Given the description of an element on the screen output the (x, y) to click on. 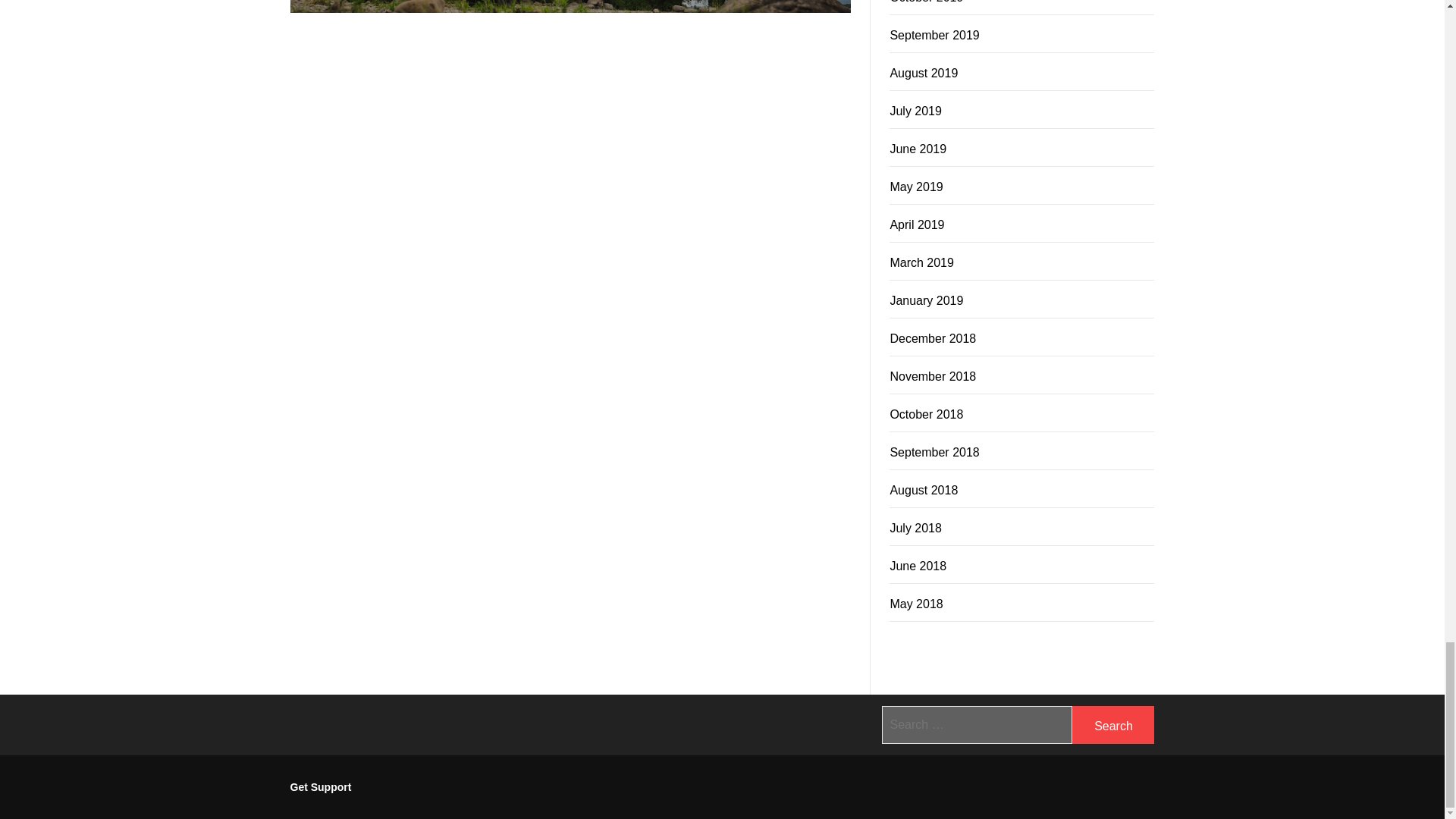
Search (1112, 724)
Search (1112, 724)
